Given the description of an element on the screen output the (x, y) to click on. 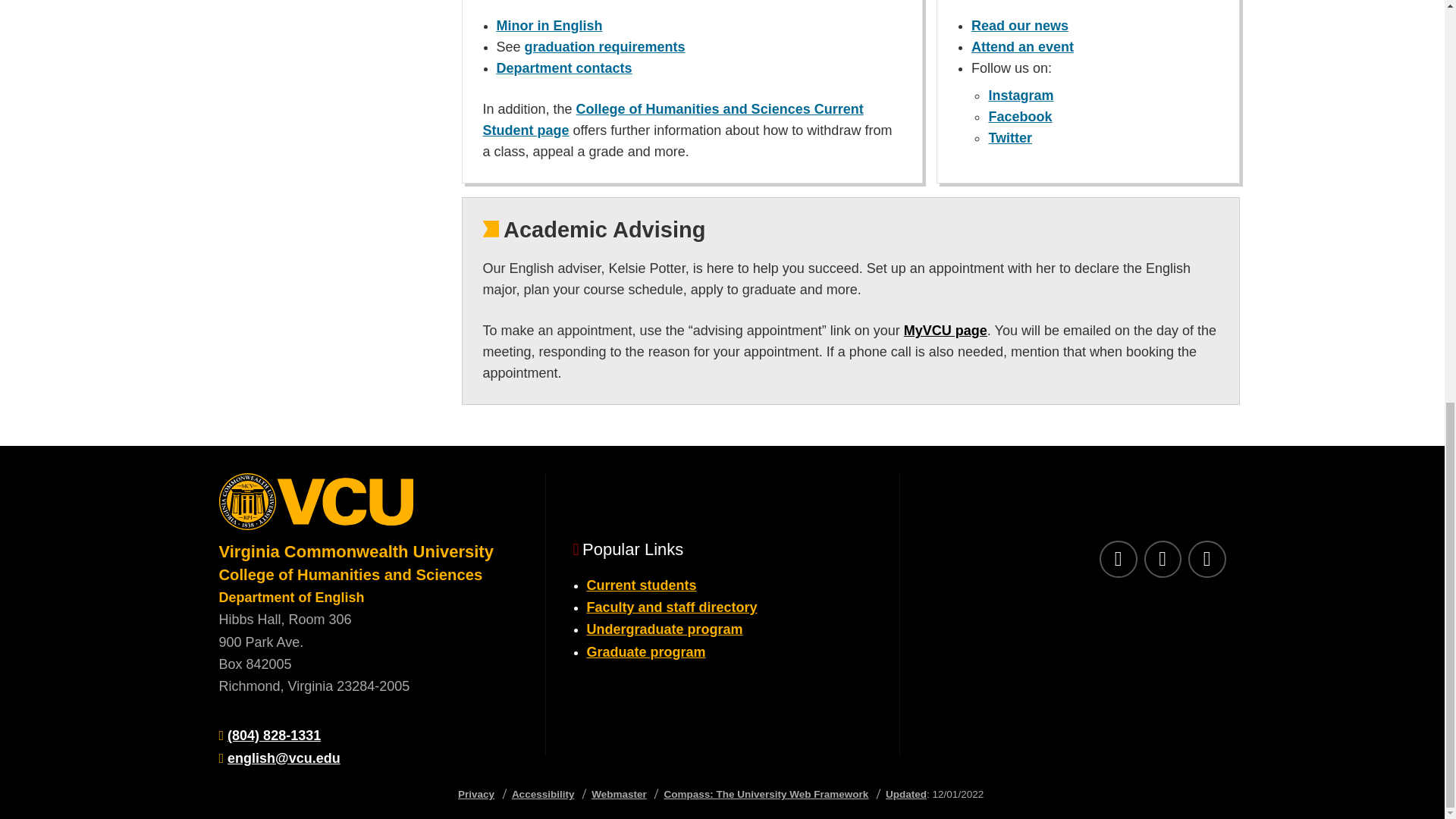
Facebook (1118, 559)
Twitter (1206, 559)
Virginia Commonwealth University (355, 551)
Contact the VCU webmaster (618, 794)
VCU privacy statement (476, 794)
Contact us by email (283, 758)
Virginia Commonwealth University seal (367, 506)
Instagram (1161, 559)
Accessibility at VCU (543, 794)
Contact us by telephone (273, 735)
